Given the description of an element on the screen output the (x, y) to click on. 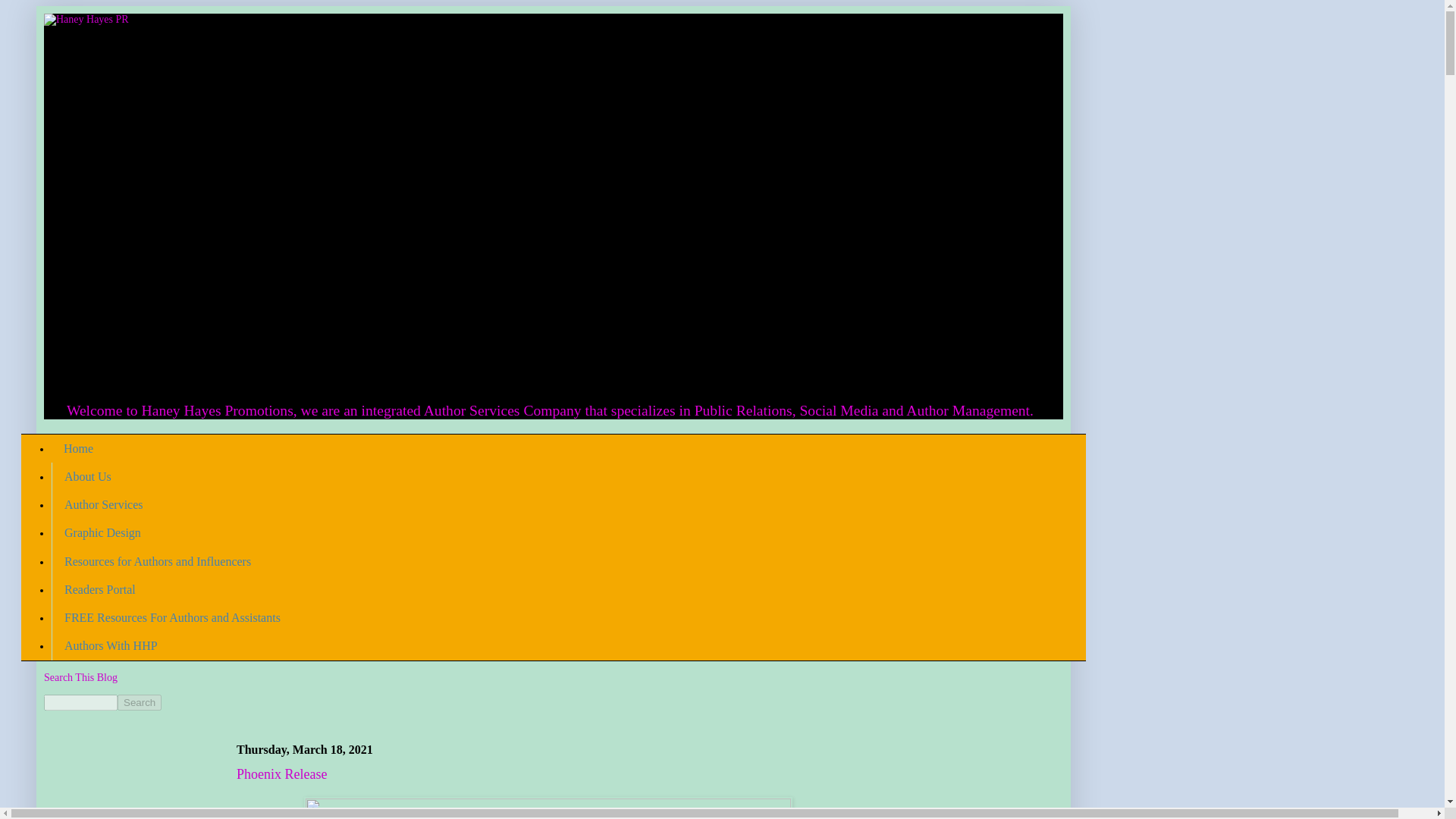
About Us (86, 476)
Author Services (102, 505)
search (80, 702)
Graphic Design (101, 533)
Home (77, 448)
search (139, 702)
Resources for Authors and Influencers (156, 561)
Search (139, 702)
Readers Portal (99, 589)
Authors With HHP (110, 646)
FREE Resources For Authors and Assistants (171, 617)
Search (139, 702)
Search (139, 702)
Phoenix Release (280, 774)
